Given the description of an element on the screen output the (x, y) to click on. 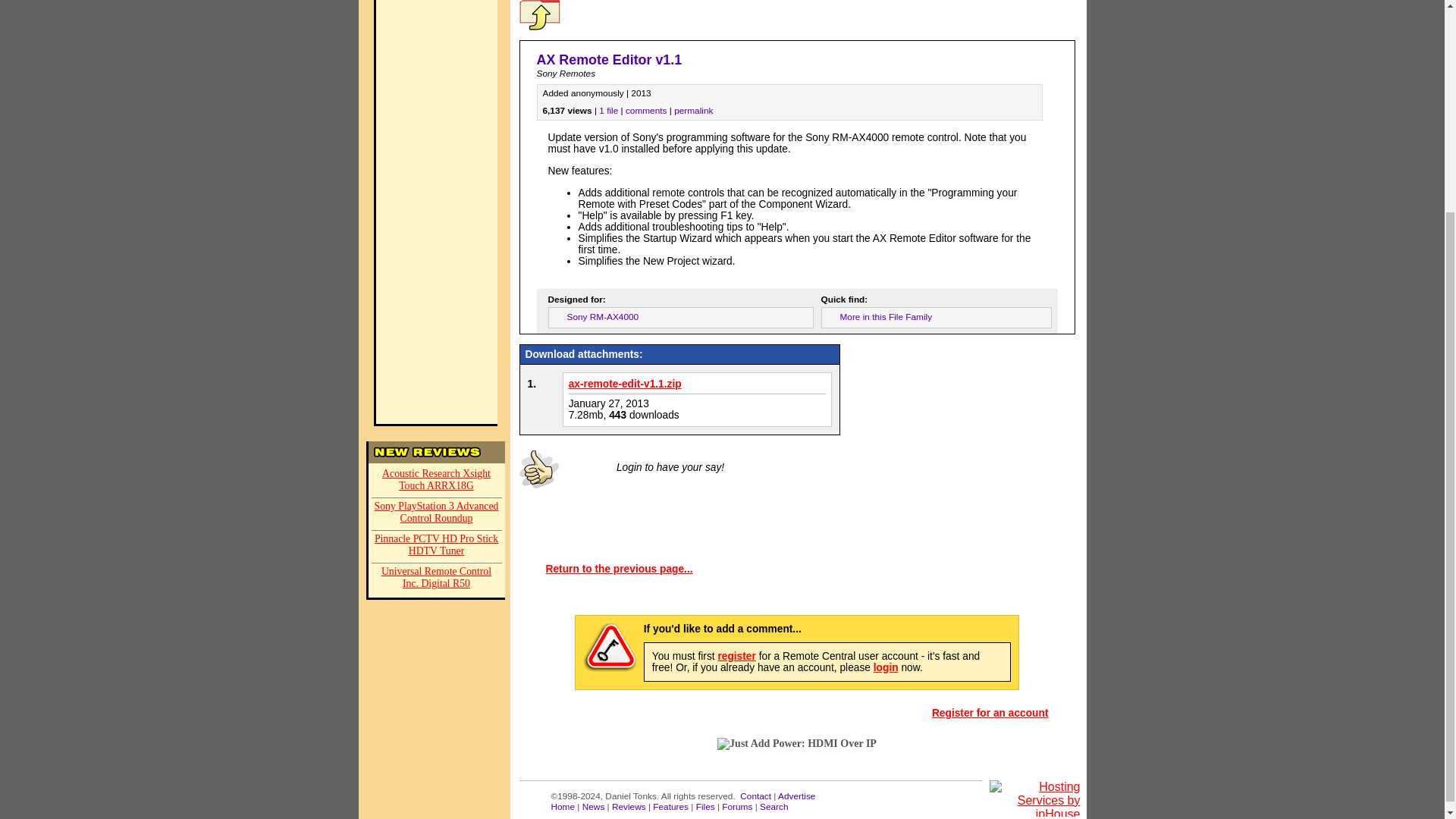
ax-remote-edit-v1.1.zip (625, 383)
Download ax-remote-edit-v1.1.zip (625, 383)
Universal Remote Control Inc. Digital R50 (436, 578)
Contact (755, 796)
permalink (693, 110)
1 file (607, 110)
Register for an account (989, 713)
Advertise (796, 796)
Sony RM-AX4000 (603, 316)
login (885, 666)
